Given the description of an element on the screen output the (x, y) to click on. 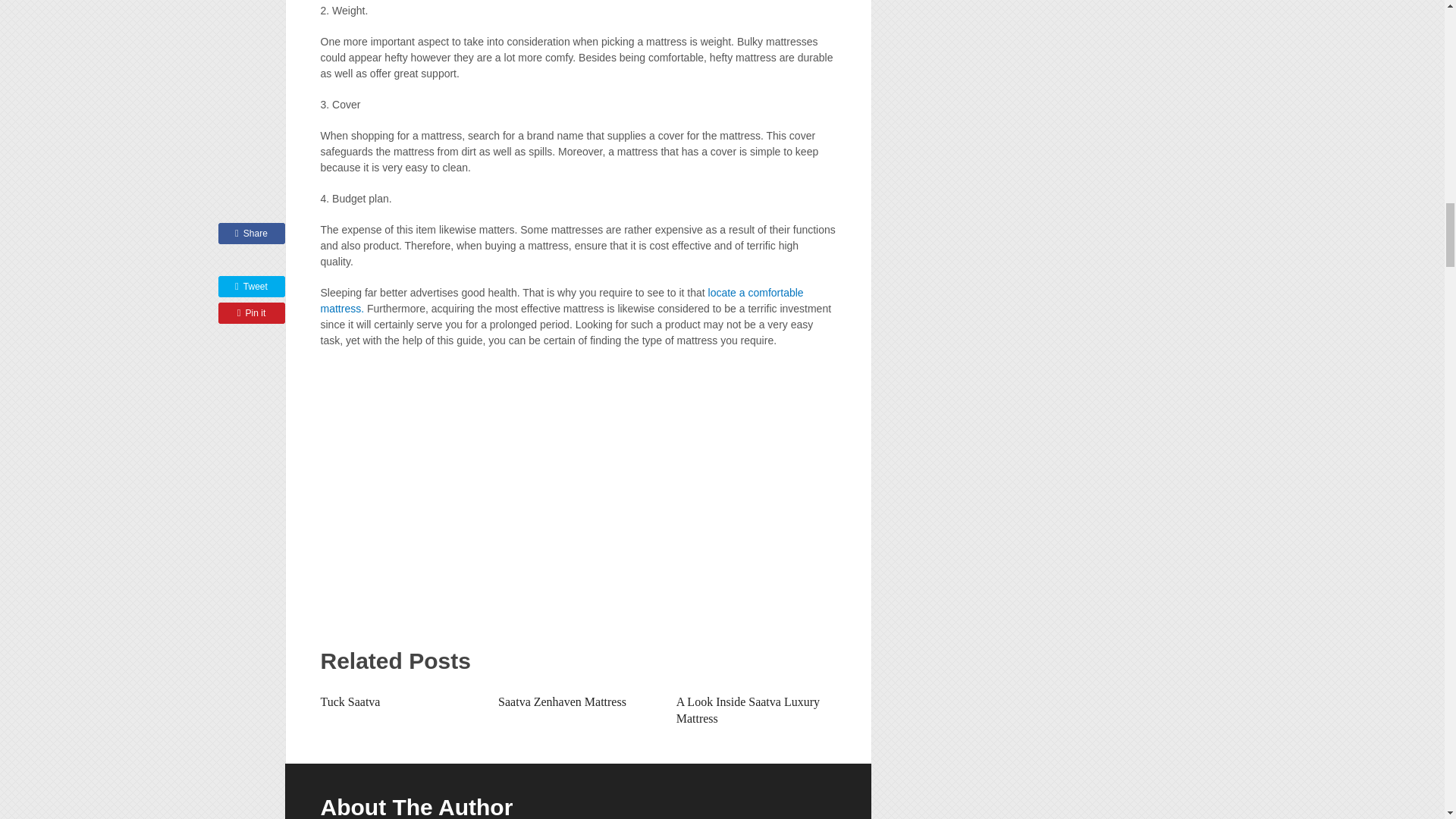
Saatva Zenhaven Mattress (561, 701)
Tuck Saatva (350, 701)
Saatva Zenhaven Mattress (561, 701)
Tuck Saatva (350, 701)
locate a comfortable mattress. (561, 300)
A Look Inside Saatva Luxury Mattress (748, 709)
A Look Inside Saatva Luxury Mattress (748, 709)
